Given the description of an element on the screen output the (x, y) to click on. 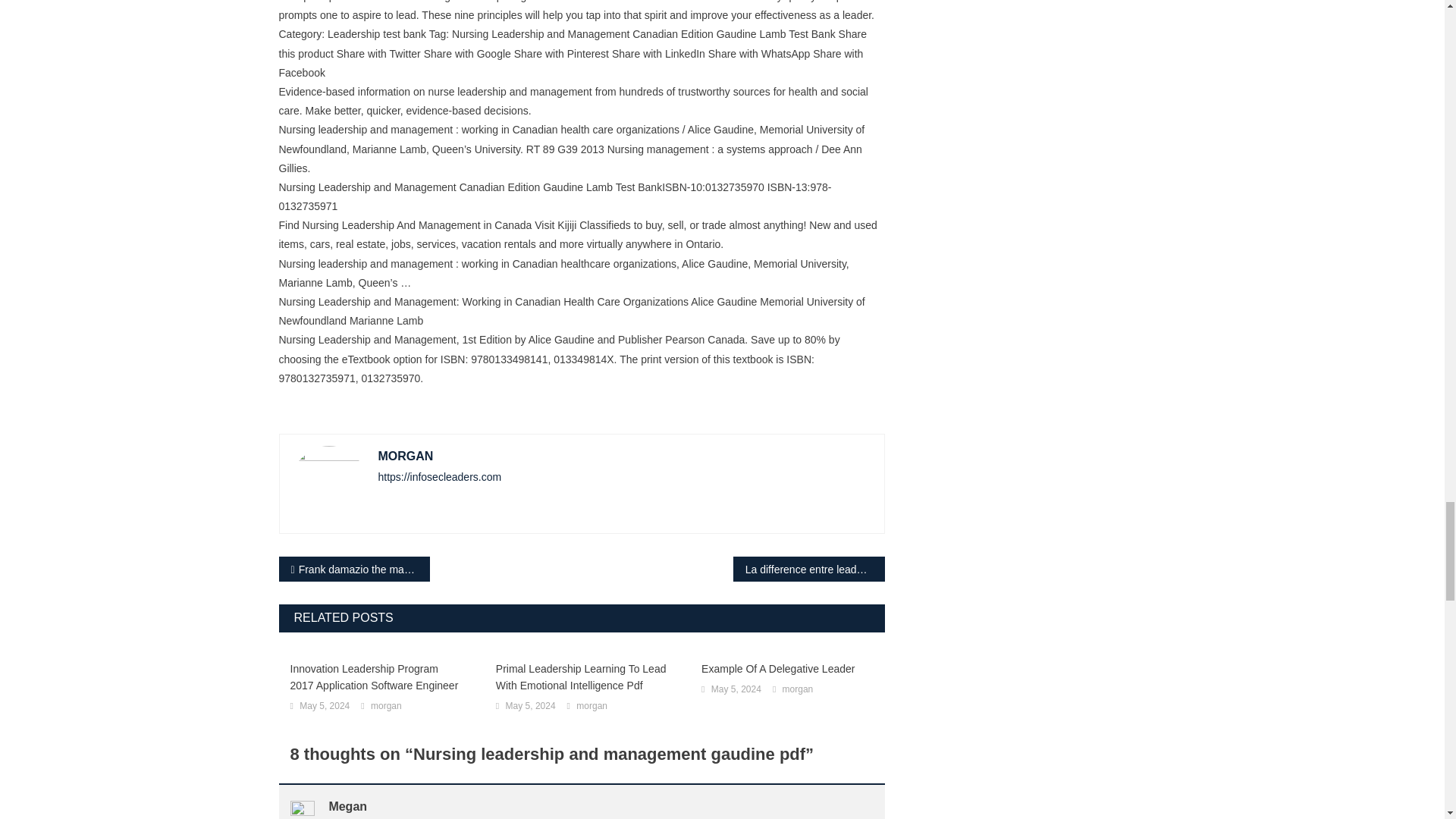
morgan (798, 689)
May 5, 2024 (530, 706)
May 5, 2024 (324, 706)
Example Of A Delegative Leader (786, 668)
MORGAN (404, 455)
La difference entre leader et manager pdf (809, 568)
Frank damazio the making of a leader pdf (354, 568)
morgan (591, 706)
morgan (386, 706)
May 5, 2024 (736, 689)
